Given the description of an element on the screen output the (x, y) to click on. 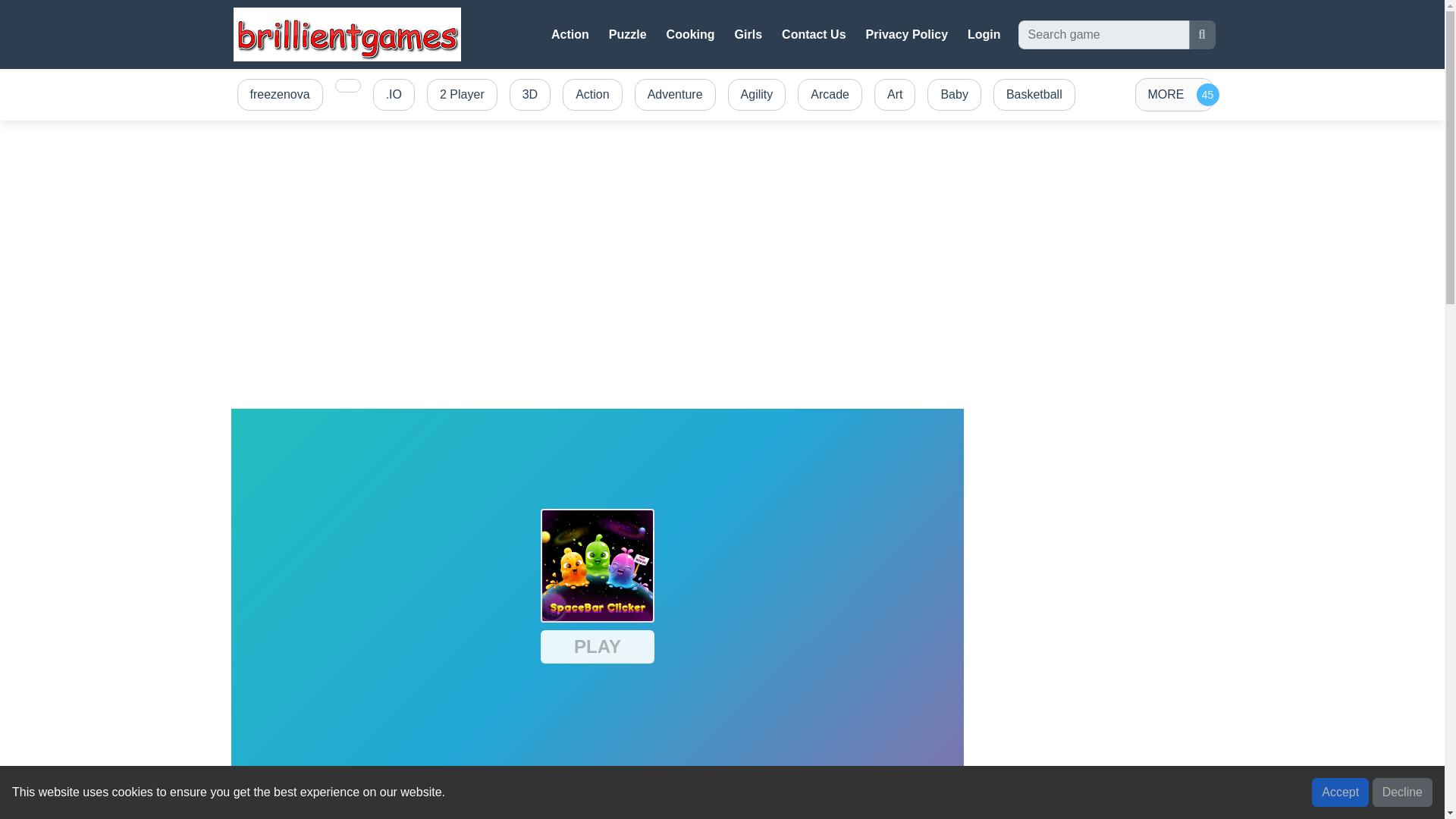
Arcade (829, 94)
Cooking (690, 34)
.IO (393, 94)
Basketball (1034, 94)
Agility (757, 94)
Adventure (675, 94)
3D (529, 94)
Girls (748, 34)
Art (894, 94)
MORE (1173, 94)
Action (569, 34)
Baby (954, 94)
Contact Us (813, 34)
Login (983, 34)
Advertisement (1096, 503)
